Given the description of an element on the screen output the (x, y) to click on. 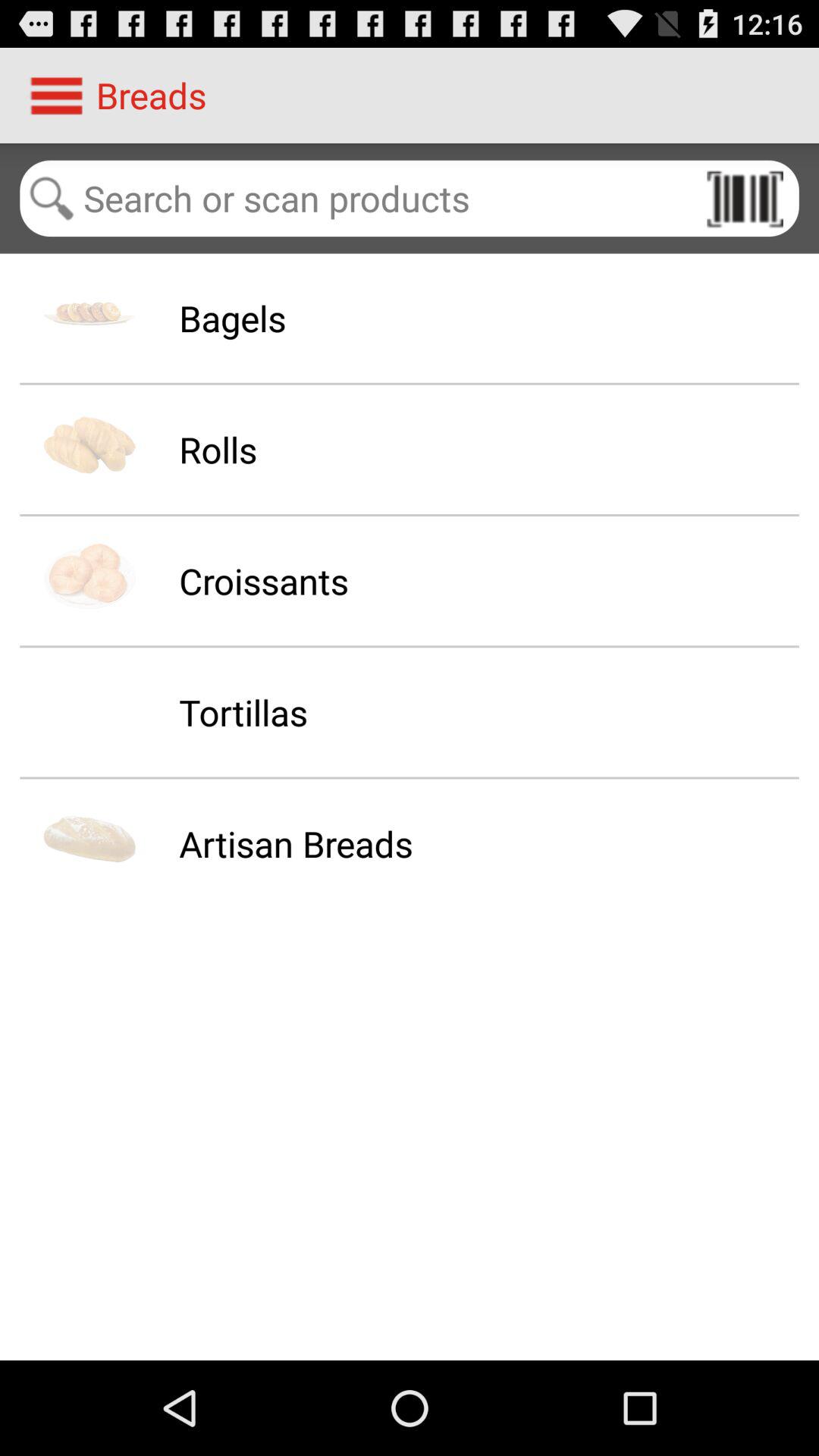
scroll until the artisan breads item (295, 843)
